Given the description of an element on the screen output the (x, y) to click on. 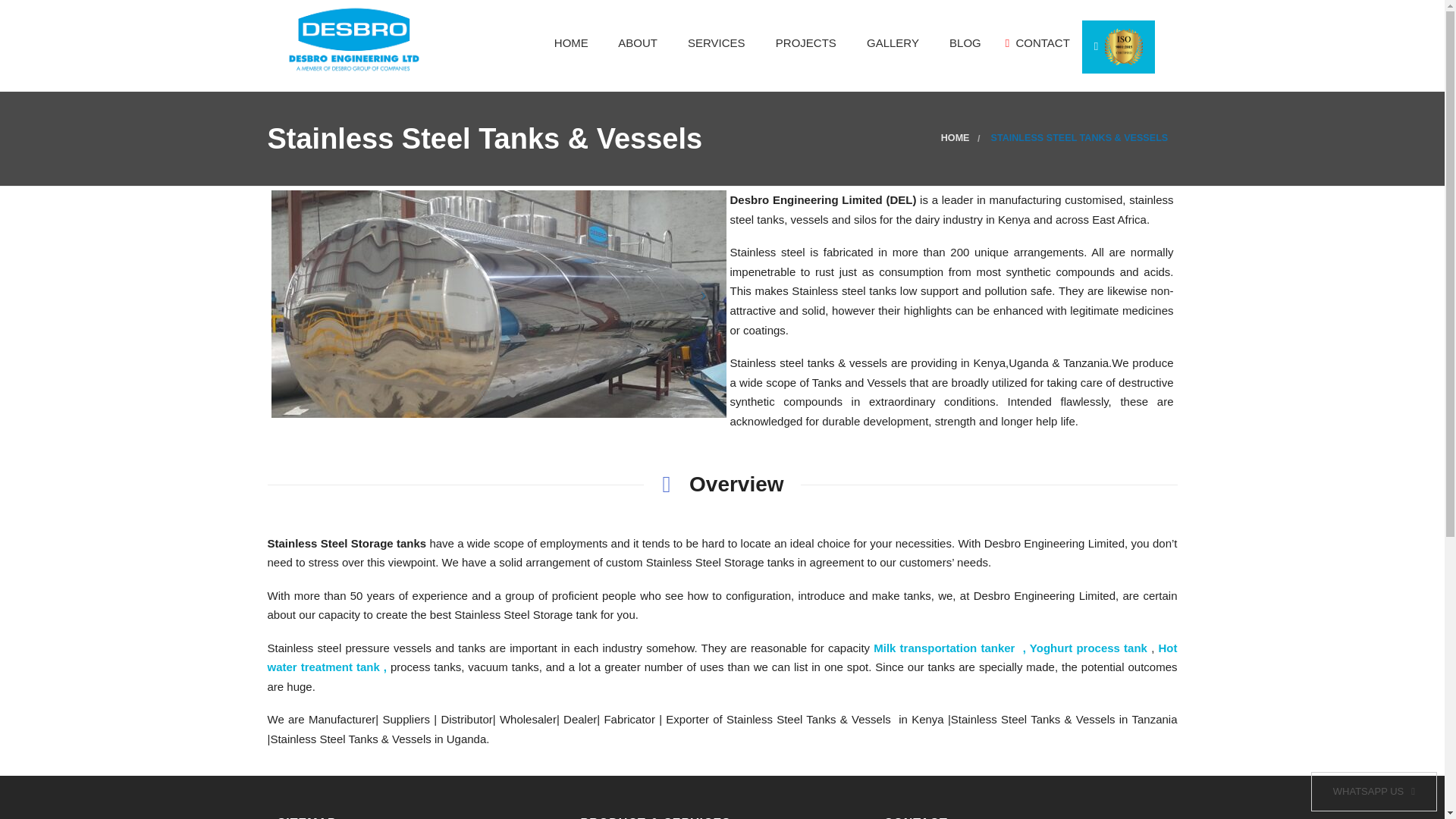
Dairy Processing (729, 80)
Bakhresa Food Products (818, 80)
Product Reseller Services (729, 229)
Tanker 13K1 (498, 303)
Nairobi Bottlers (818, 199)
Milk Transportation Tanker (908, 110)
Custom Stainless Steel Fabrication (729, 288)
Africa Improved Foods (818, 259)
Desbro Engineering (355, 37)
This is Desbro (908, 318)
Hot Water Treatment Tank (908, 80)
Process Storage Tank (908, 199)
Commercial Kitchen Equipment (729, 259)
CONTACT (1036, 42)
Chibuku Regional (818, 139)
